Given the description of an element on the screen output the (x, y) to click on. 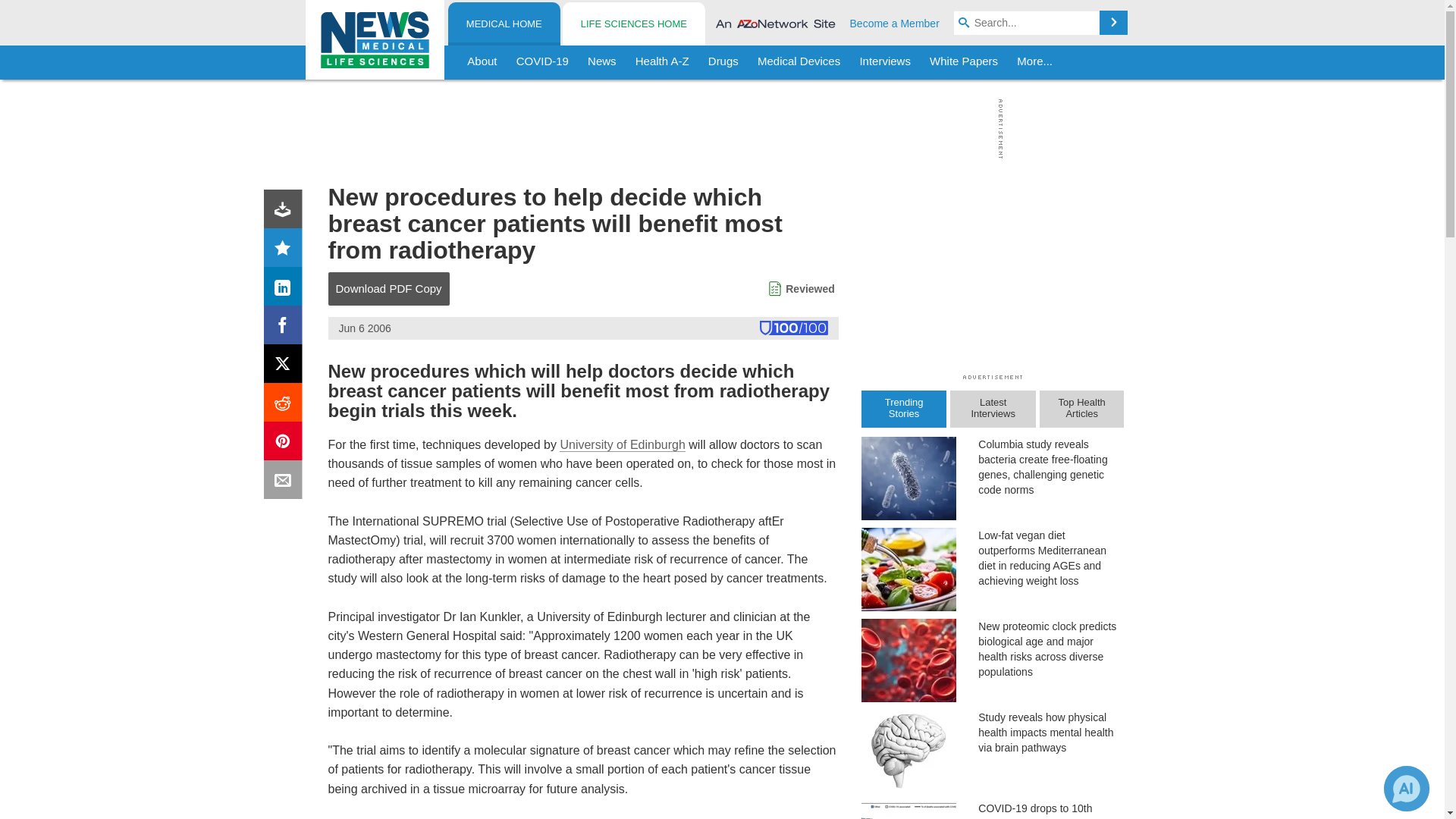
White Papers (963, 62)
Email (285, 483)
Become a Member (894, 22)
COVID-19 (542, 62)
Health A-Z (662, 62)
Medical Devices (798, 62)
LinkedIn (285, 289)
X (285, 366)
Download PDF copy (285, 212)
